Given the description of an element on the screen output the (x, y) to click on. 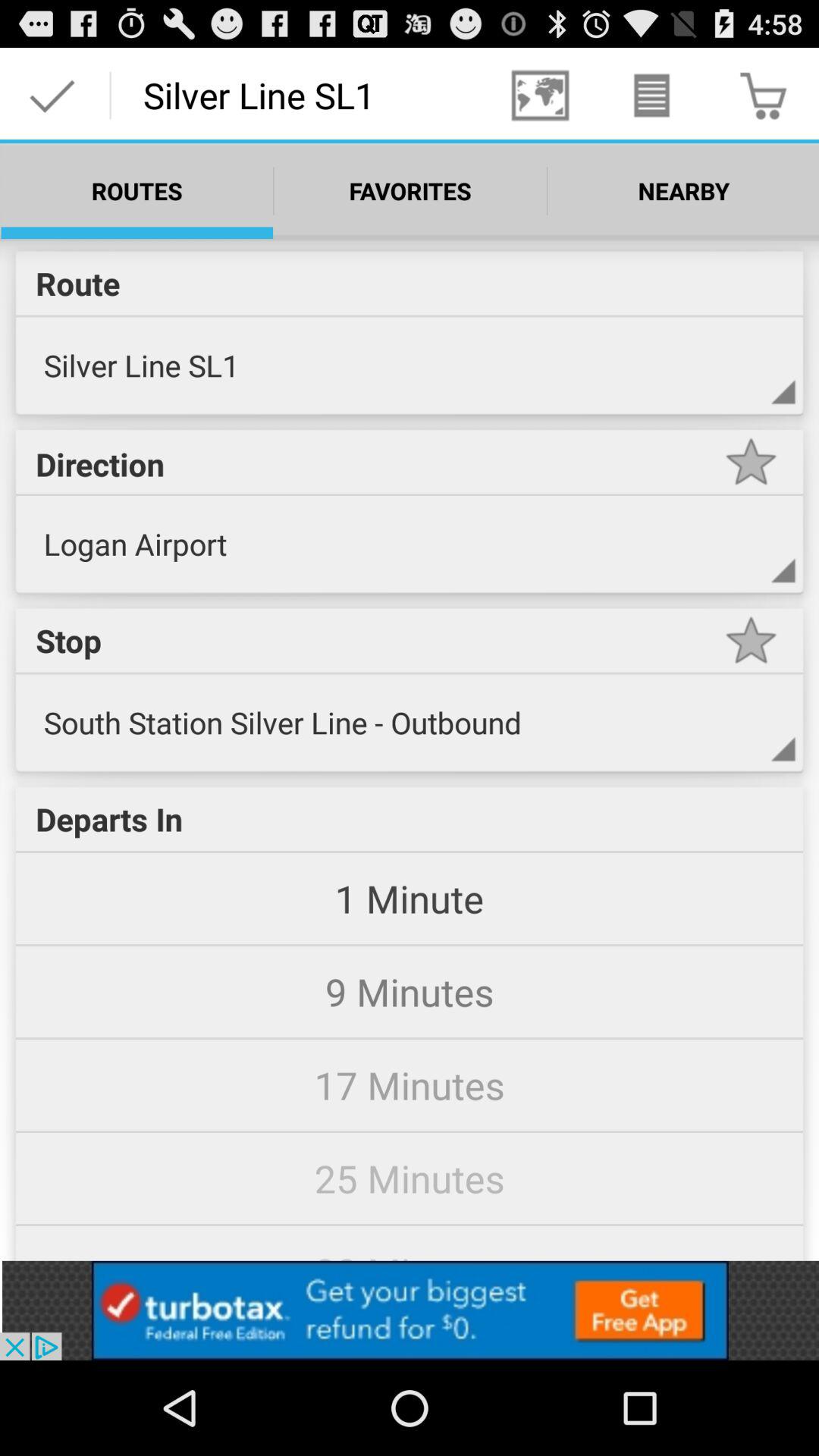
view the adversitement (409, 1310)
